Given the description of an element on the screen output the (x, y) to click on. 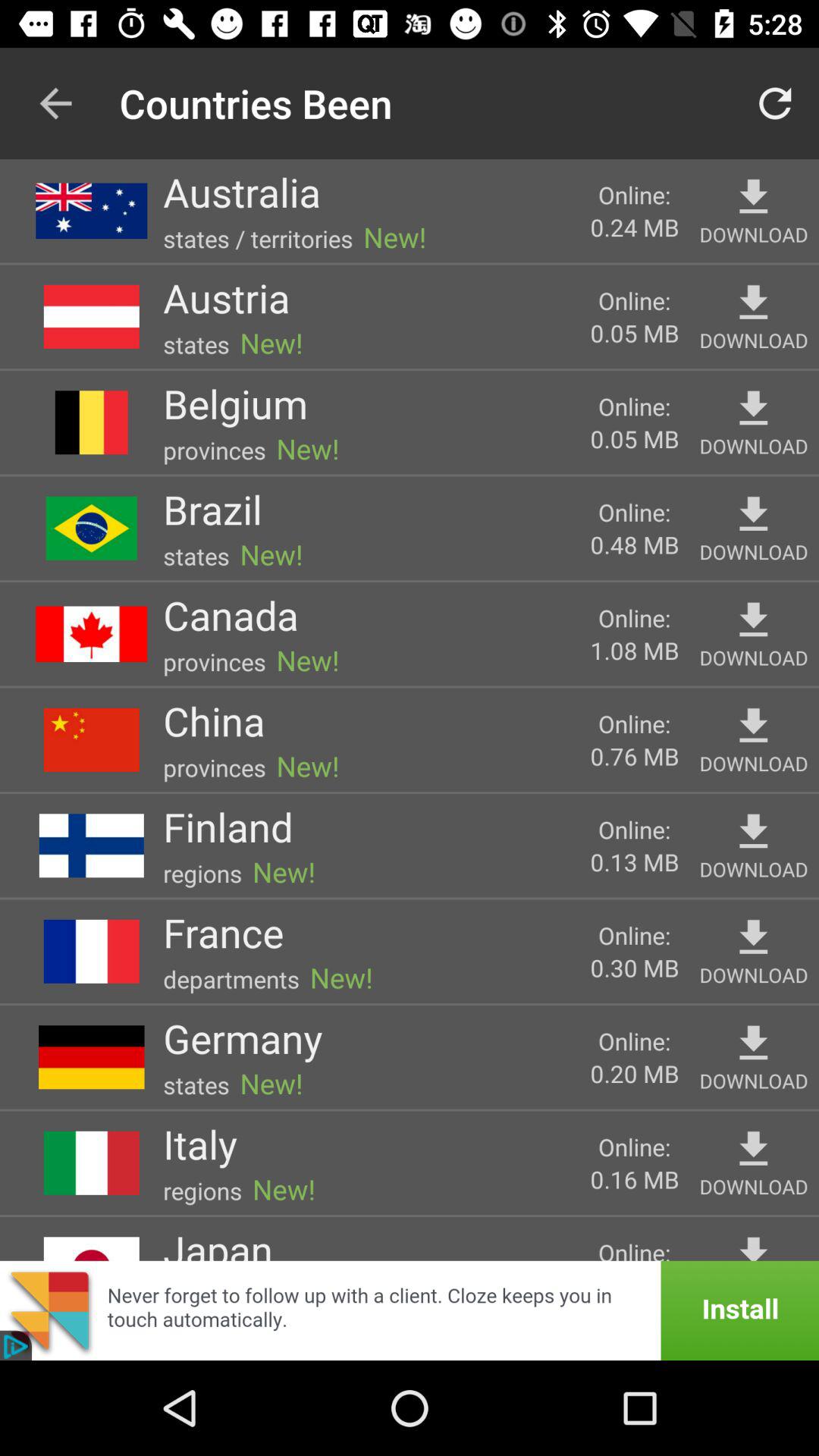
download button (753, 408)
